Given the description of an element on the screen output the (x, y) to click on. 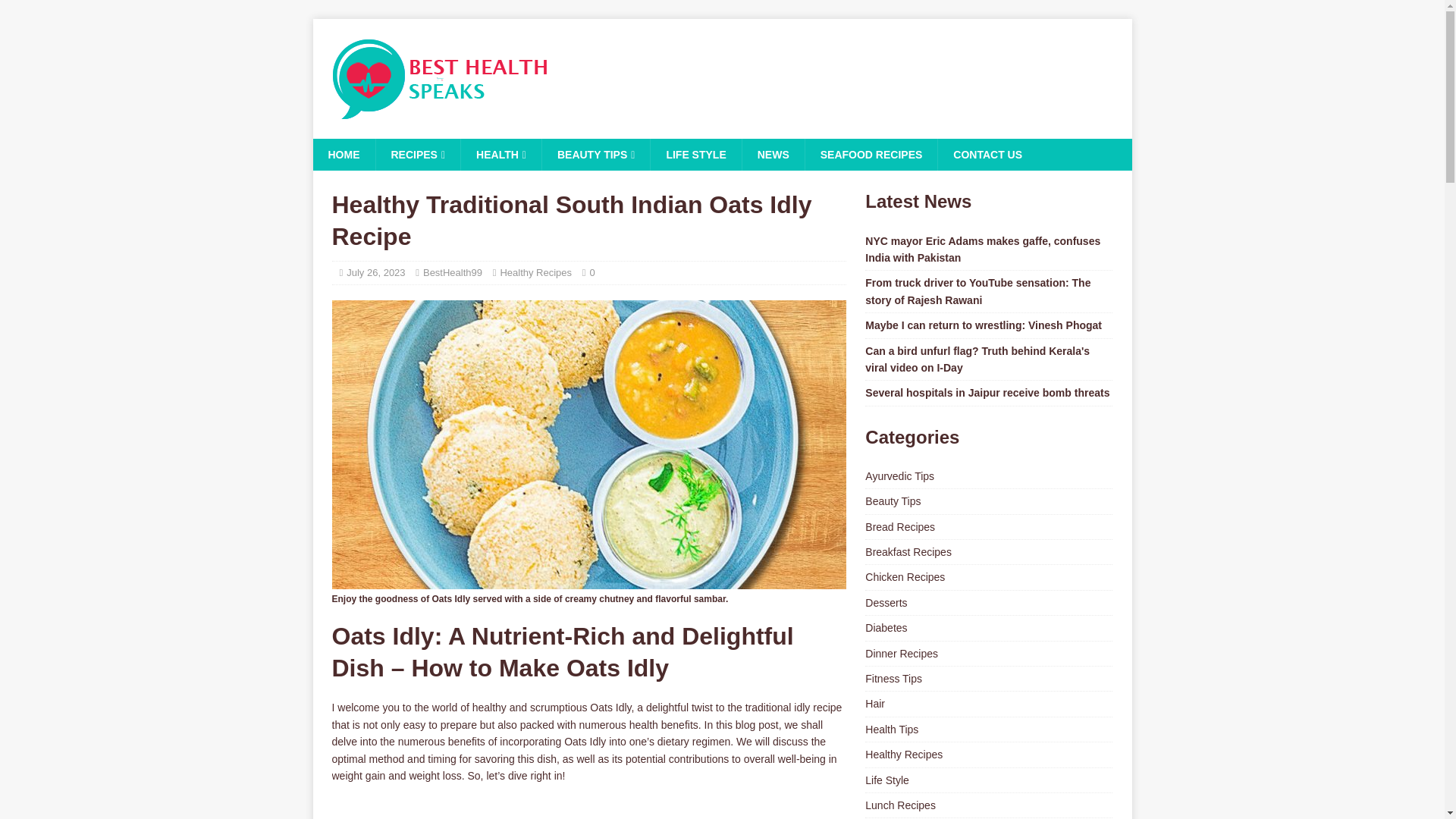
RECIPES (417, 154)
HOME (343, 154)
